Given the description of an element on the screen output the (x, y) to click on. 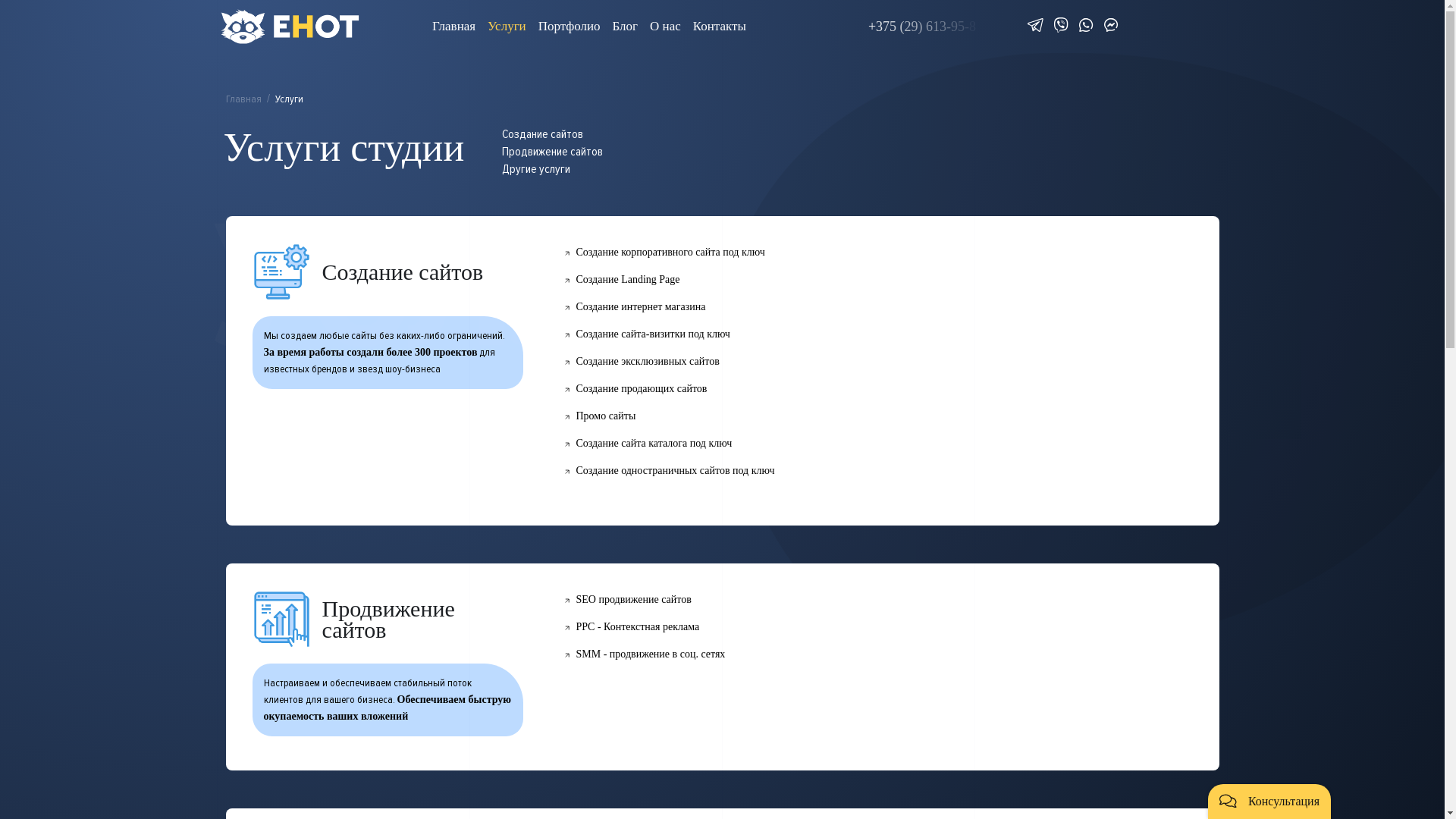
+375 (29) 613-95-8 Element type: text (925, 26)
